Given the description of an element on the screen output the (x, y) to click on. 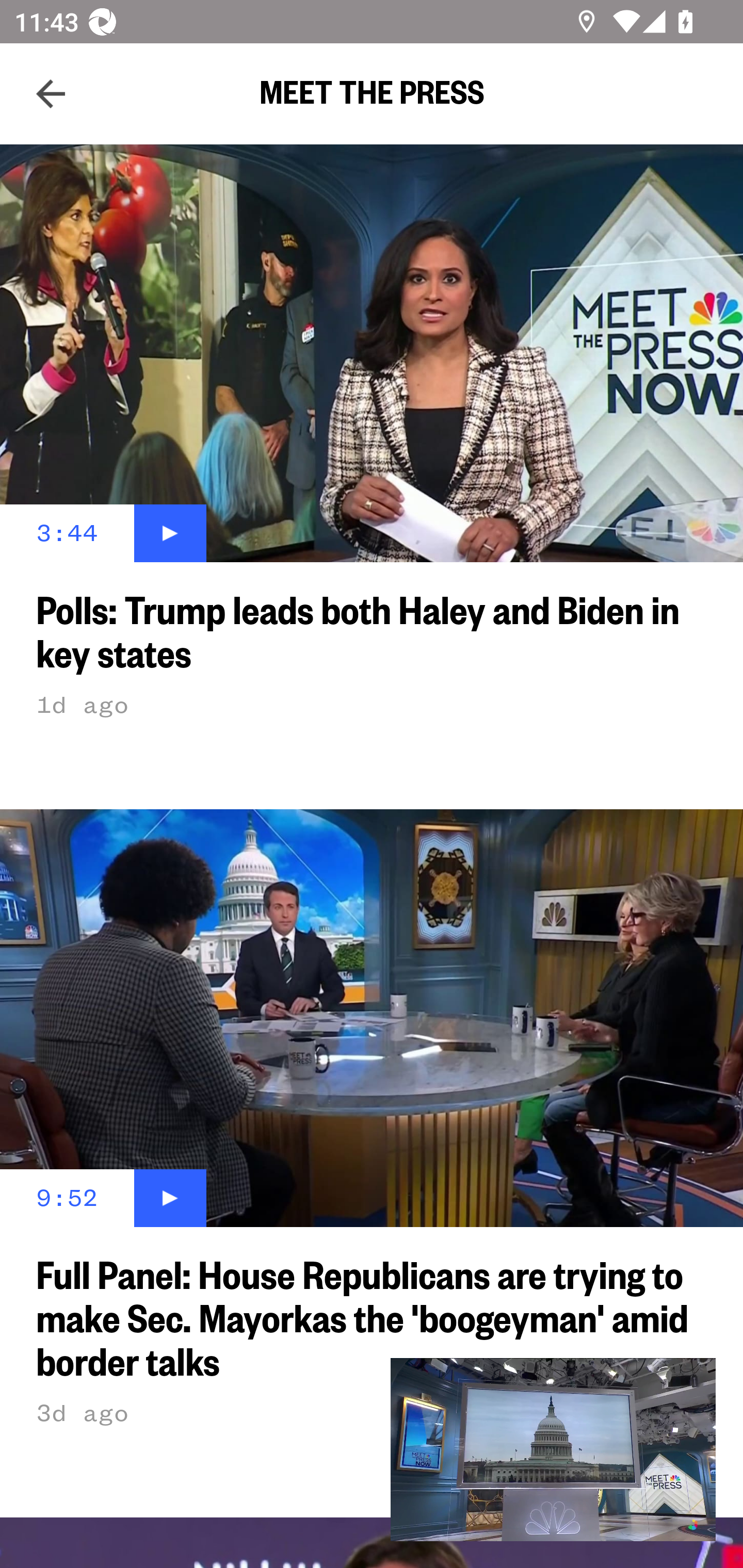
Navigate up (50, 93)
